Given the description of an element on the screen output the (x, y) to click on. 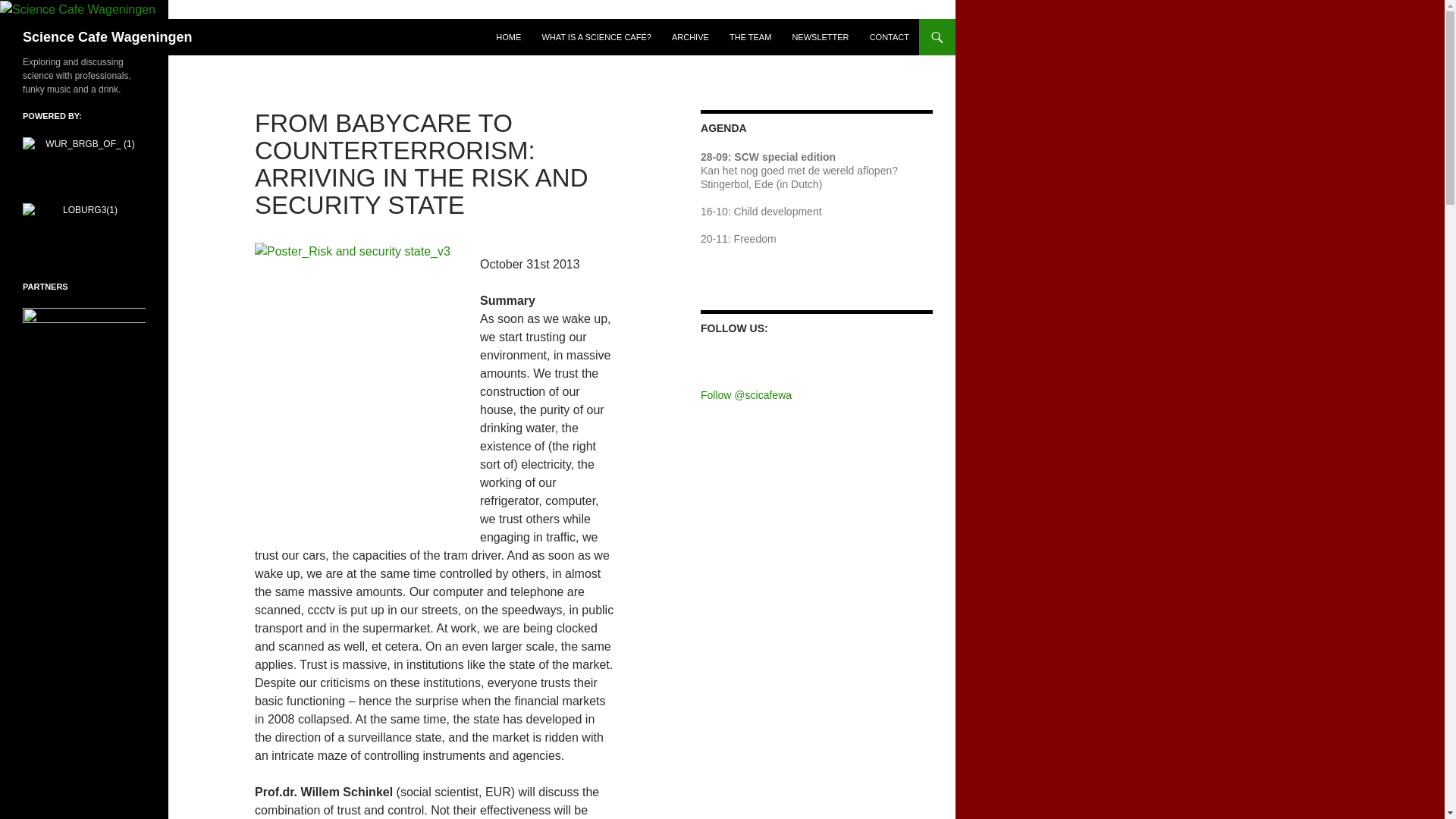
THE TEAM (750, 36)
ARCHIVE (689, 36)
CONTACT (889, 36)
NEWSLETTER (820, 36)
Science Cafe Wageningen (107, 36)
HOME (507, 36)
